Given the description of an element on the screen output the (x, y) to click on. 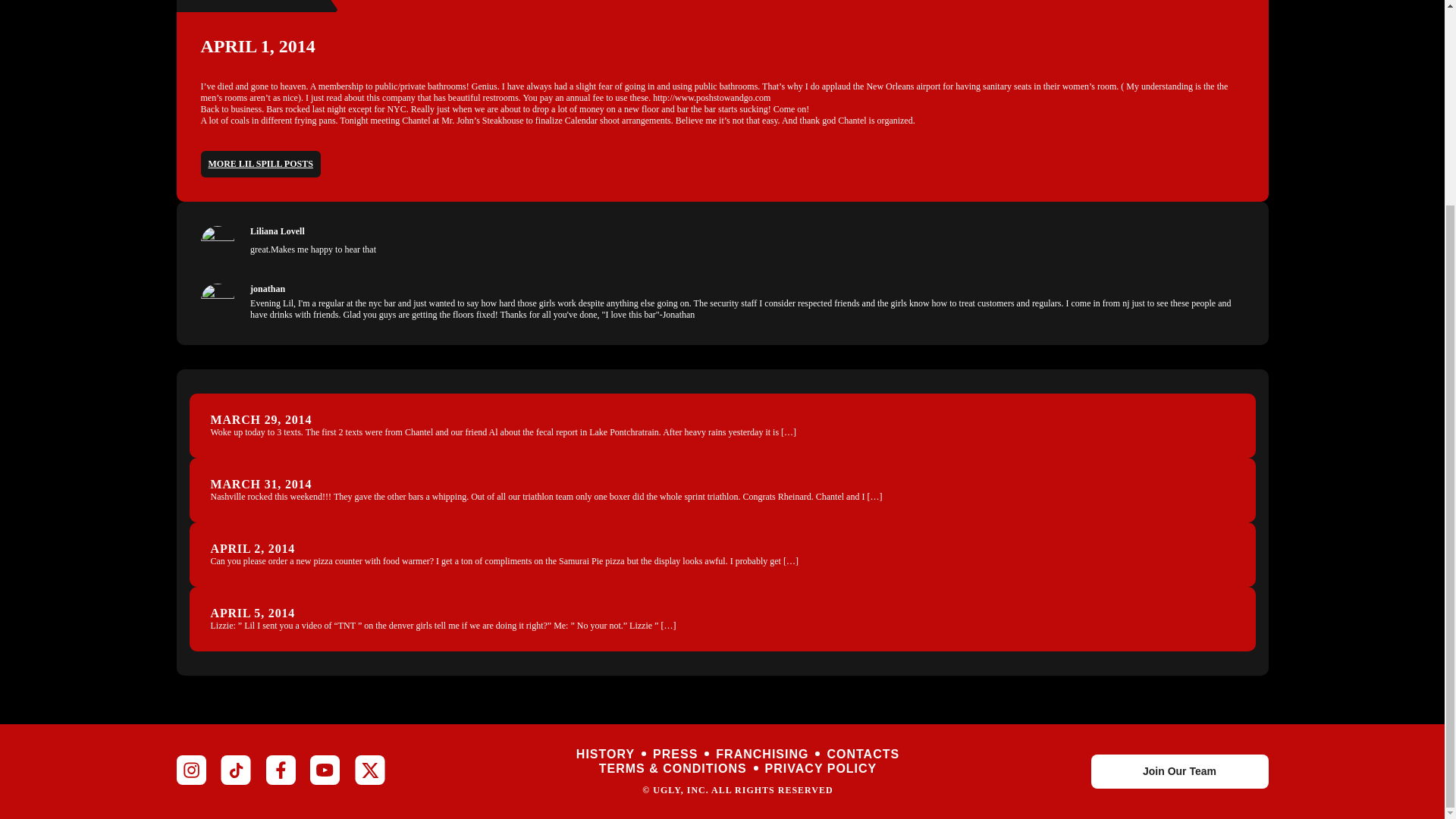
CONTACTS (863, 753)
HISTORY (605, 753)
PRESS (674, 753)
LIL SPILL (255, 0)
MORE LIL SPILL POSTS (260, 163)
FRANCHISING (762, 753)
